Given the description of an element on the screen output the (x, y) to click on. 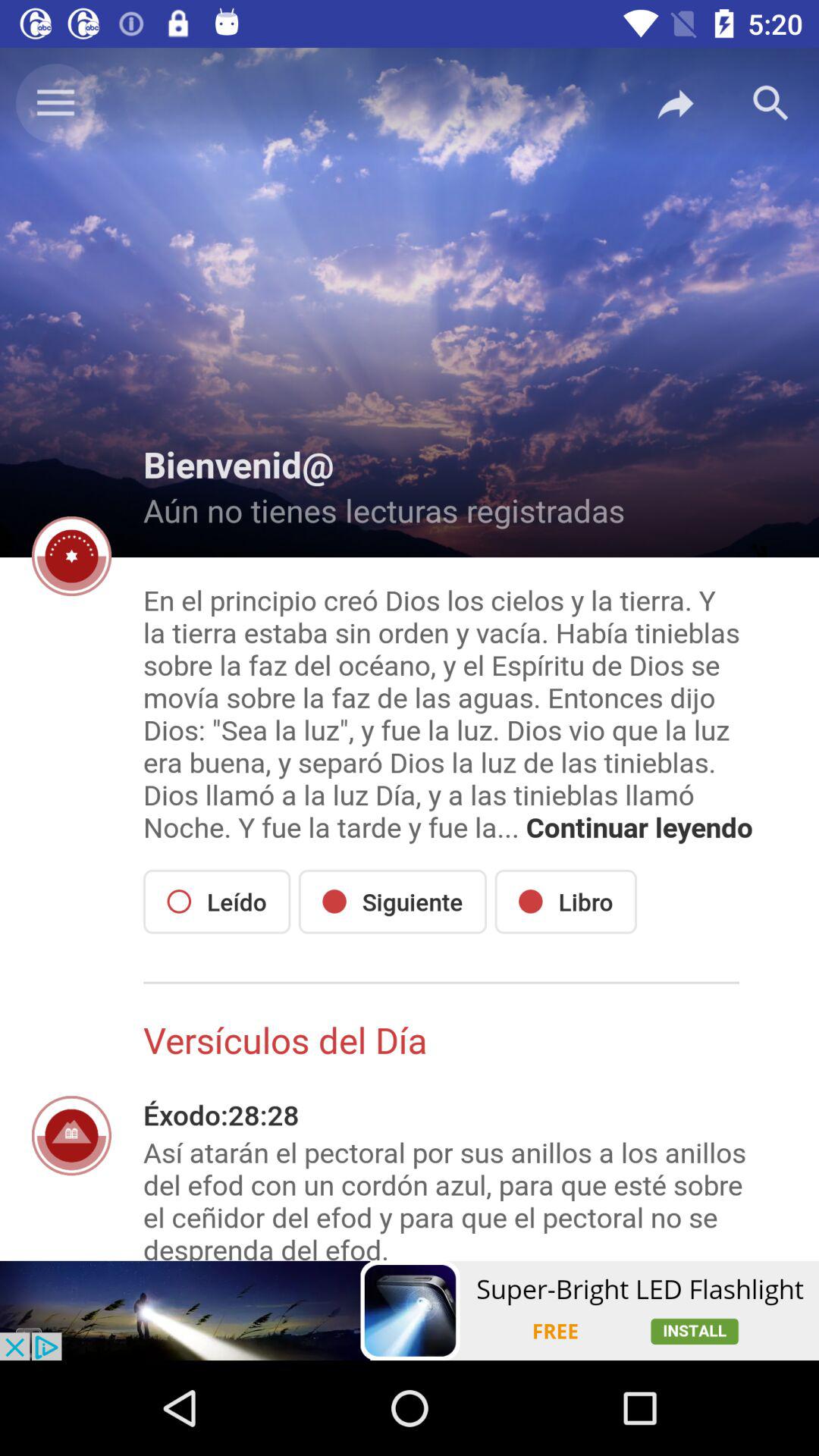
launch icon next to the libro (392, 901)
